Given the description of an element on the screen output the (x, y) to click on. 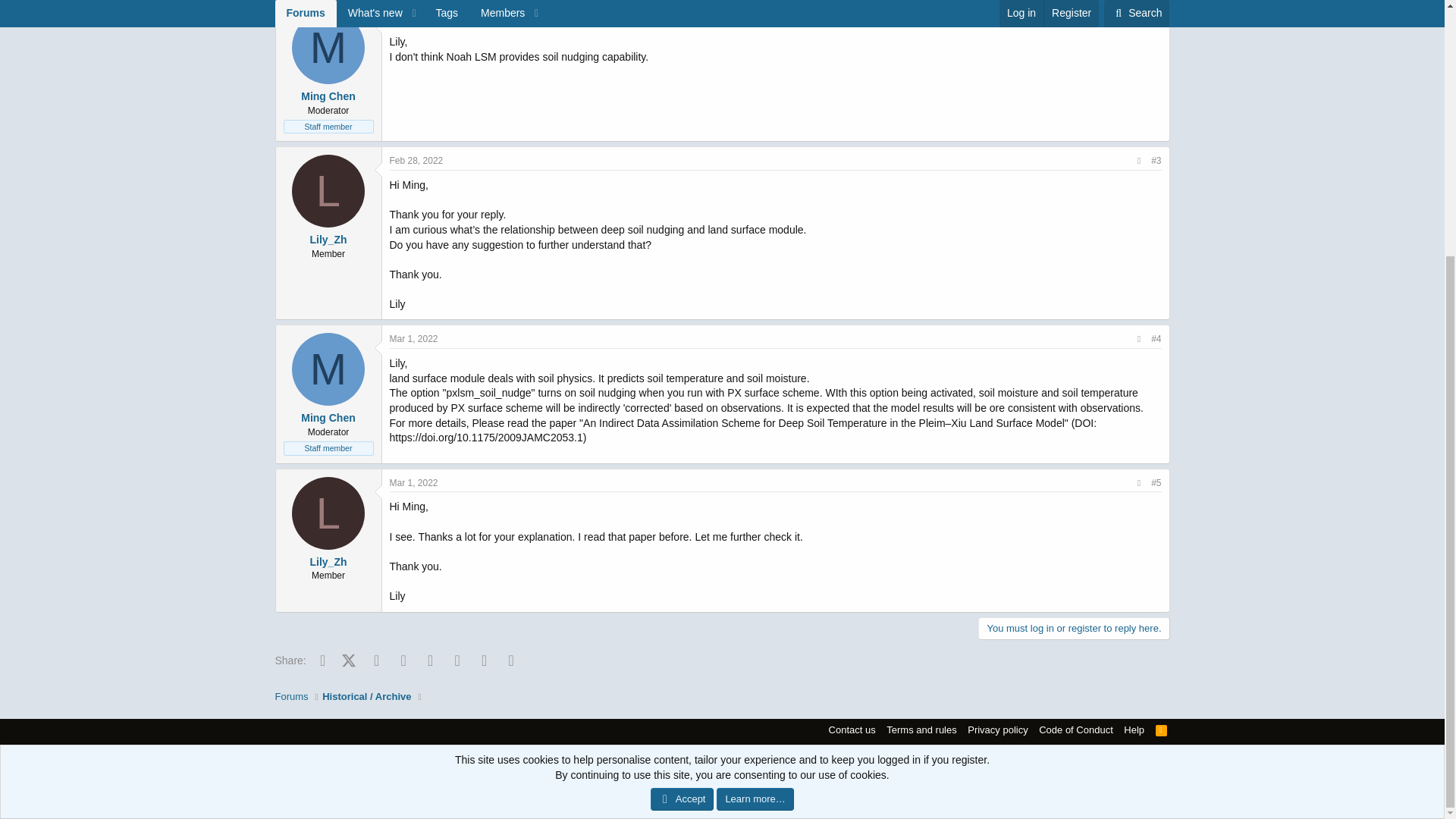
Mar 1, 2022 at 12:38 PM (414, 482)
M (328, 47)
Feb 28, 2022 at 1:40 PM (417, 160)
RSS (1161, 729)
Feb 14, 2022 at 7:43 PM (417, 17)
Mar 1, 2022 at 9:08 AM (414, 338)
